Given the description of an element on the screen output the (x, y) to click on. 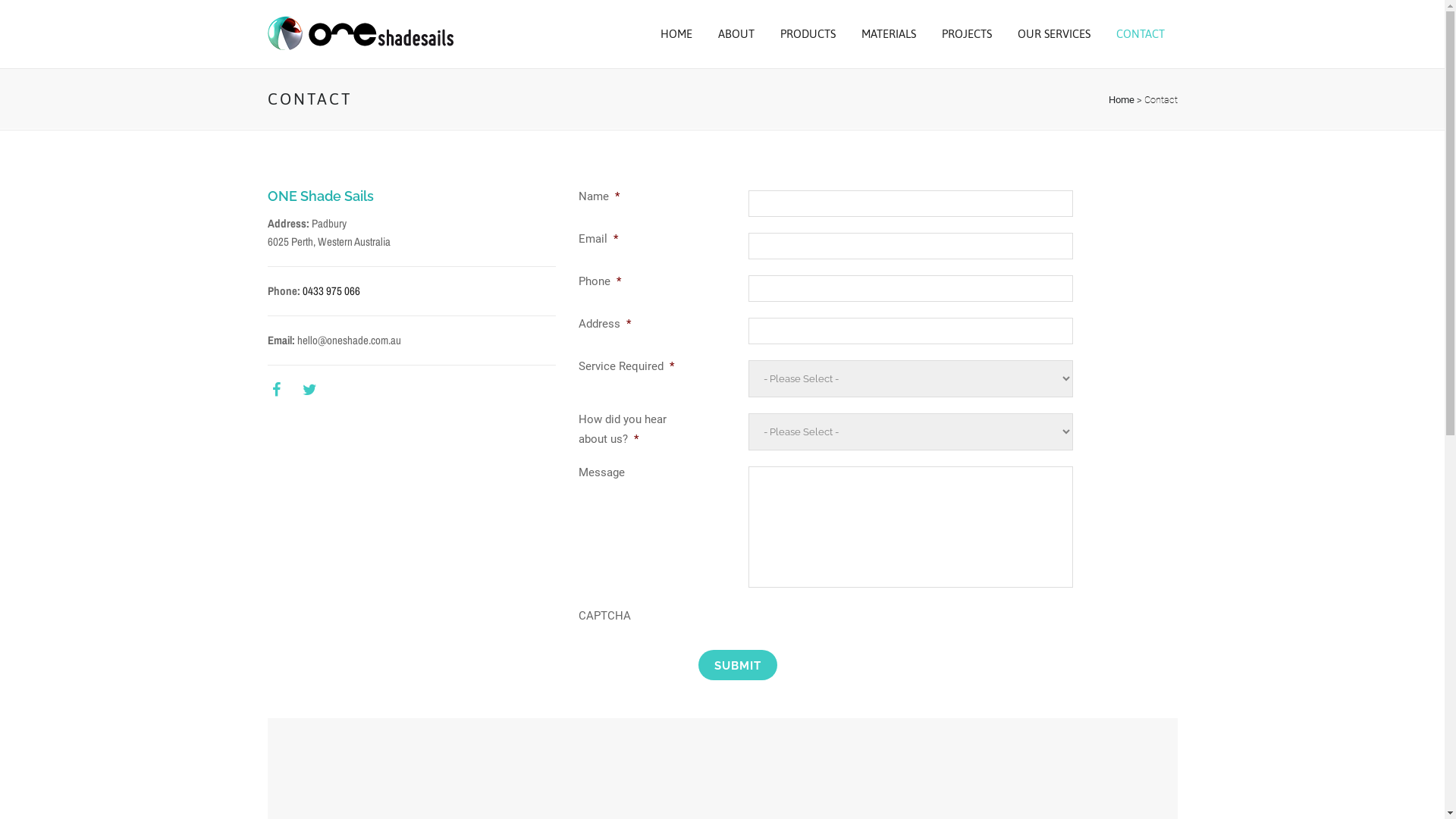
Home Element type: text (1121, 99)
OUR SERVICES Element type: text (1053, 34)
CONTACT Element type: text (1139, 34)
ABOUT Element type: text (736, 34)
PRODUCTS Element type: text (807, 34)
HOME Element type: text (676, 34)
MATERIALS Element type: text (887, 34)
PROJECTS Element type: text (966, 34)
0433 975 066 Element type: text (330, 290)
Submit Element type: text (736, 664)
